Given the description of an element on the screen output the (x, y) to click on. 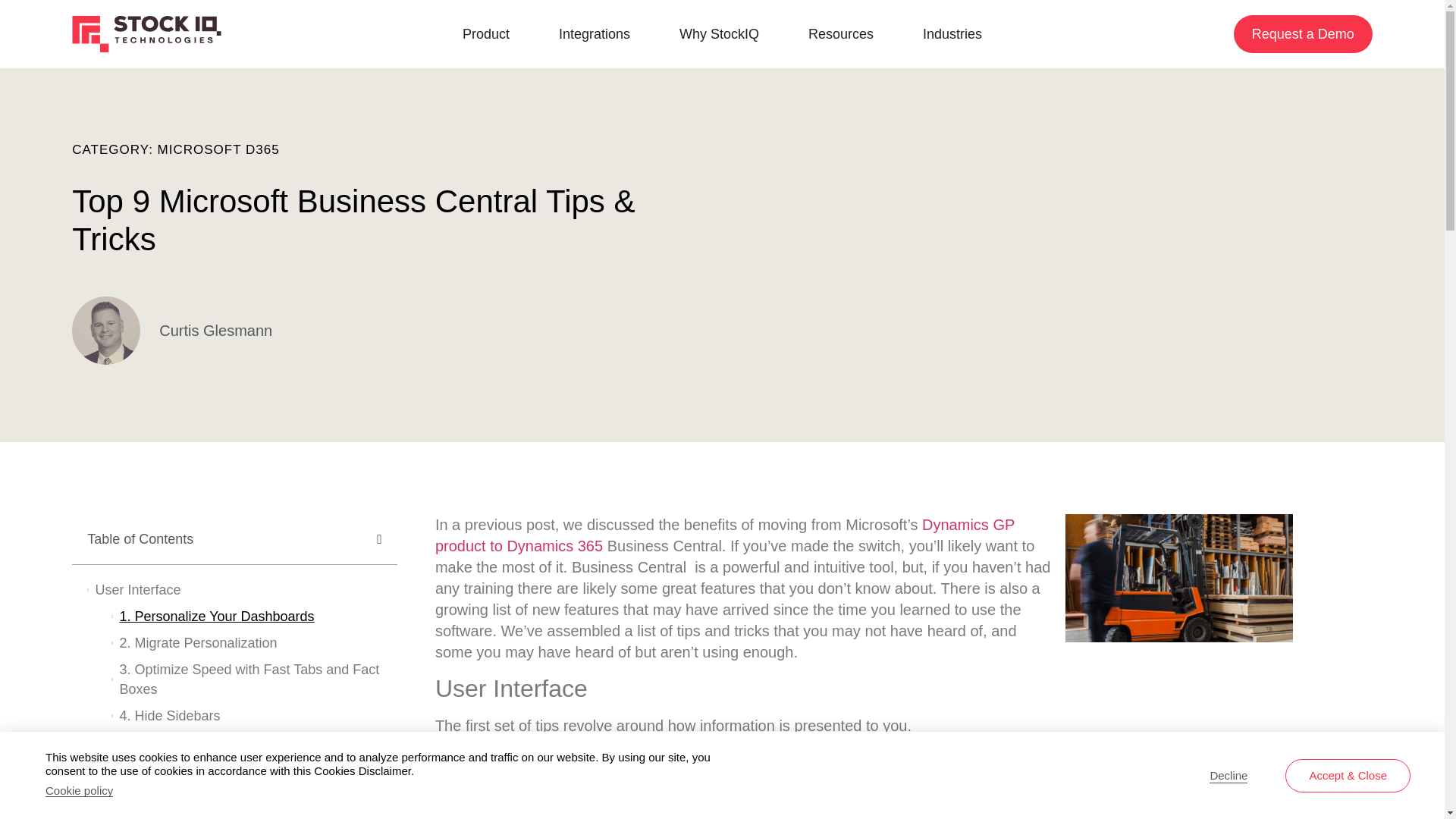
Why StockIQ (718, 34)
Product (486, 34)
Resources (840, 34)
Industries (952, 34)
Request a Demo (1303, 34)
Integrations (594, 34)
